Given the description of an element on the screen output the (x, y) to click on. 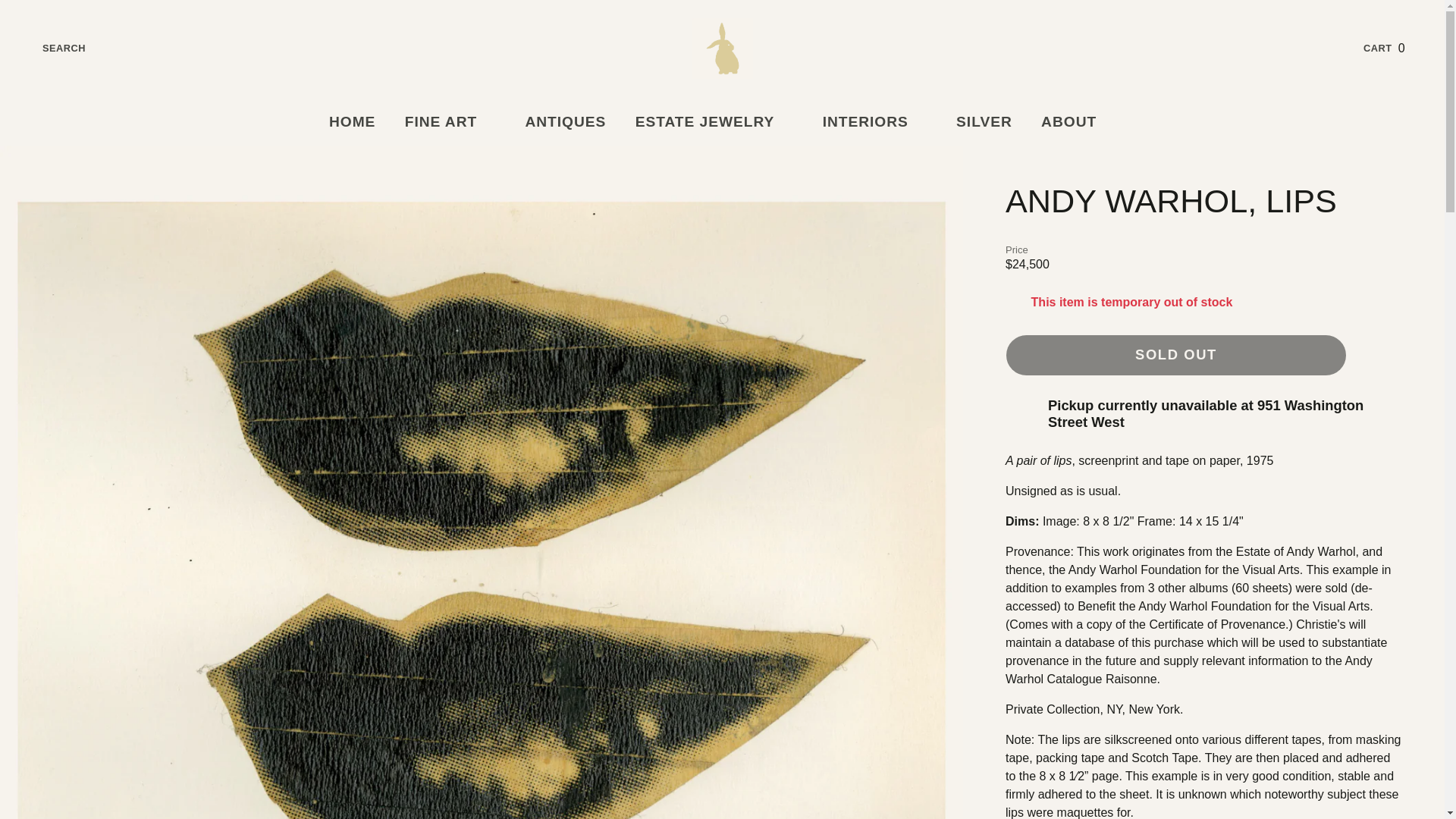
HOME (352, 122)
ESTATE JEWELRY (714, 122)
SILVER (984, 122)
SEARCH (51, 48)
INTERIORS (874, 122)
SOLD OUT (1394, 48)
ABOUT (1176, 354)
FINE ART (1077, 122)
ANTIQUES (450, 122)
